Given the description of an element on the screen output the (x, y) to click on. 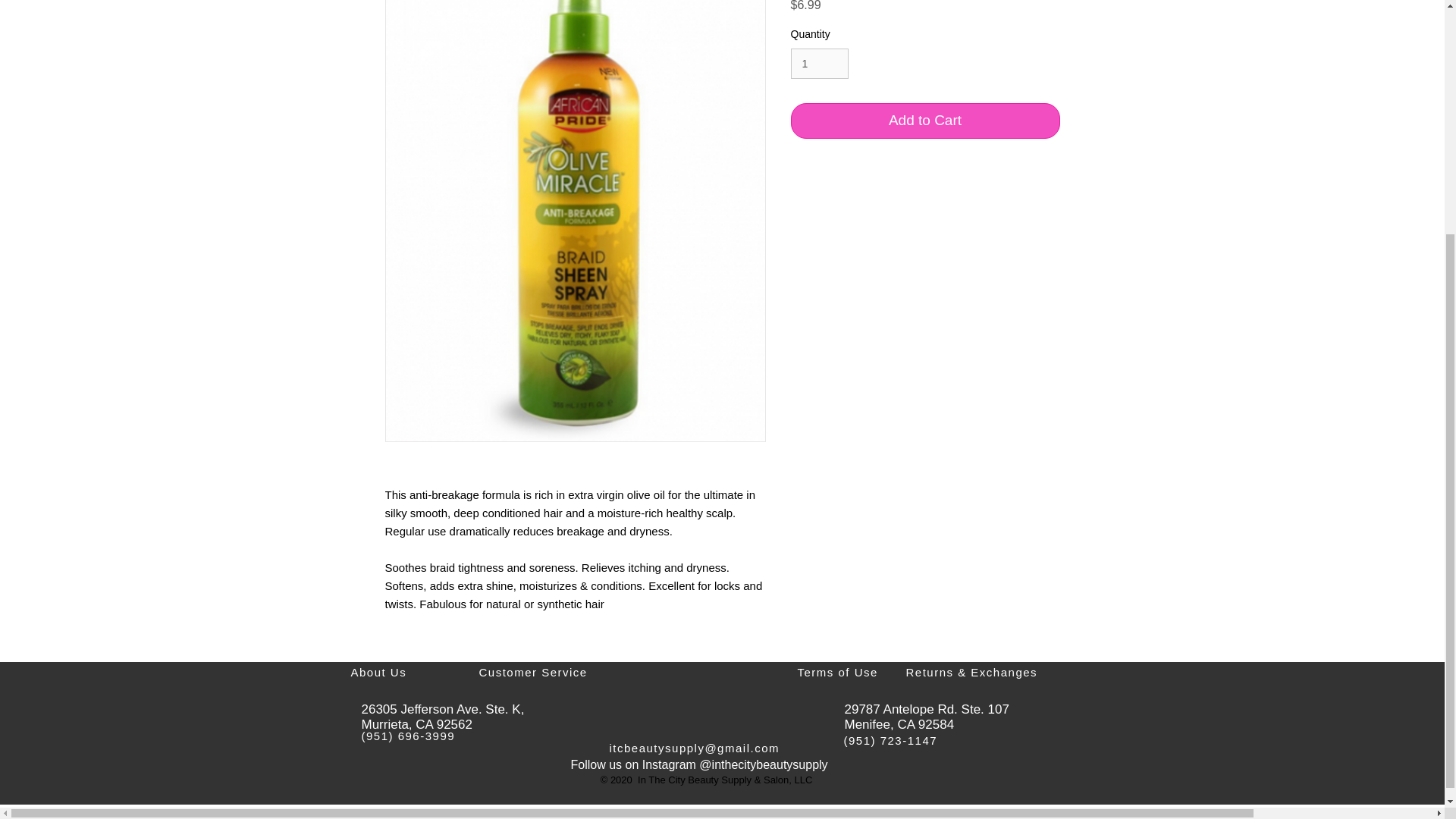
1 (818, 63)
Add to Cart (924, 120)
About Us (378, 671)
Customer Service (533, 671)
Terms of Use (837, 671)
